Given the description of an element on the screen output the (x, y) to click on. 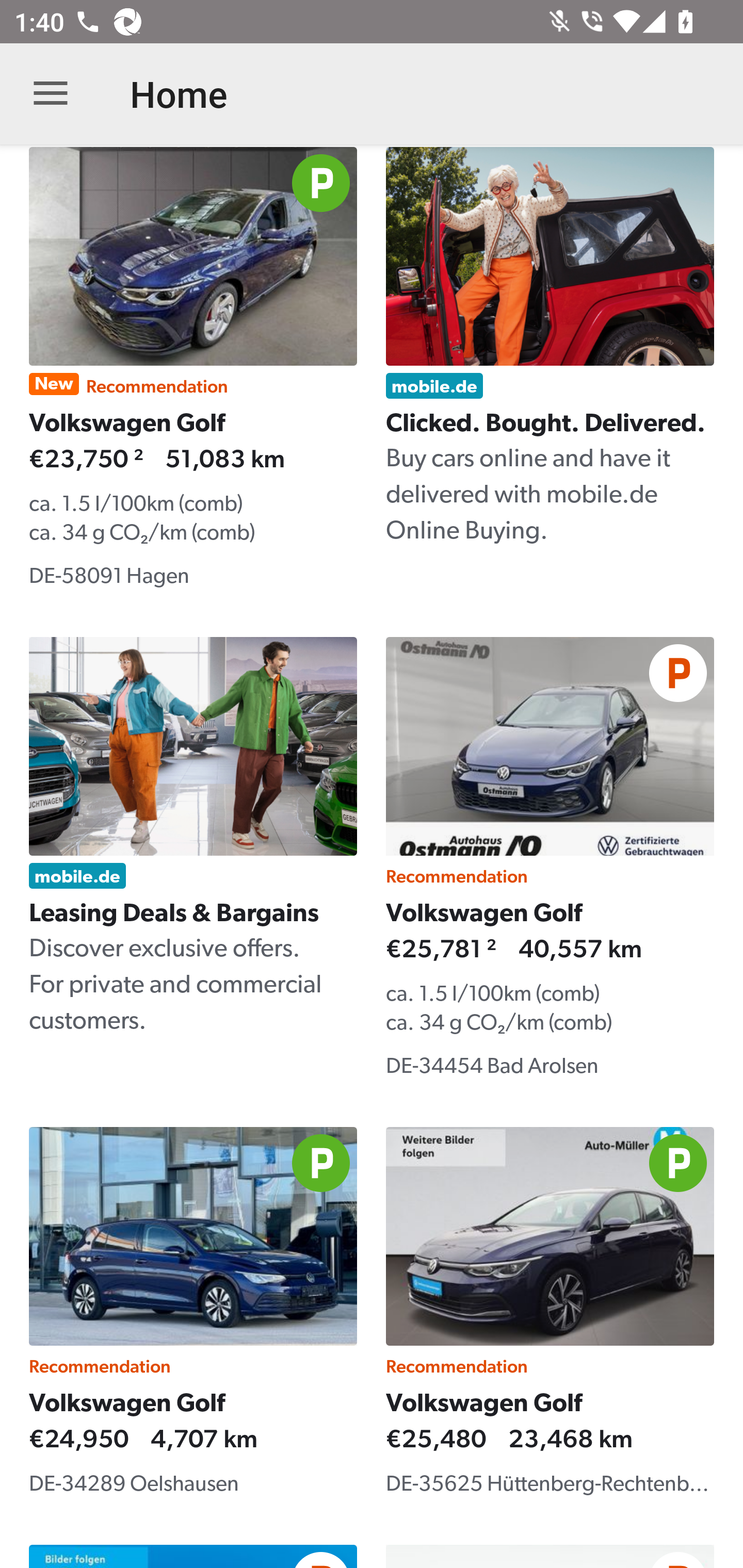
Open navigation bar (50, 93)
